Given the description of an element on the screen output the (x, y) to click on. 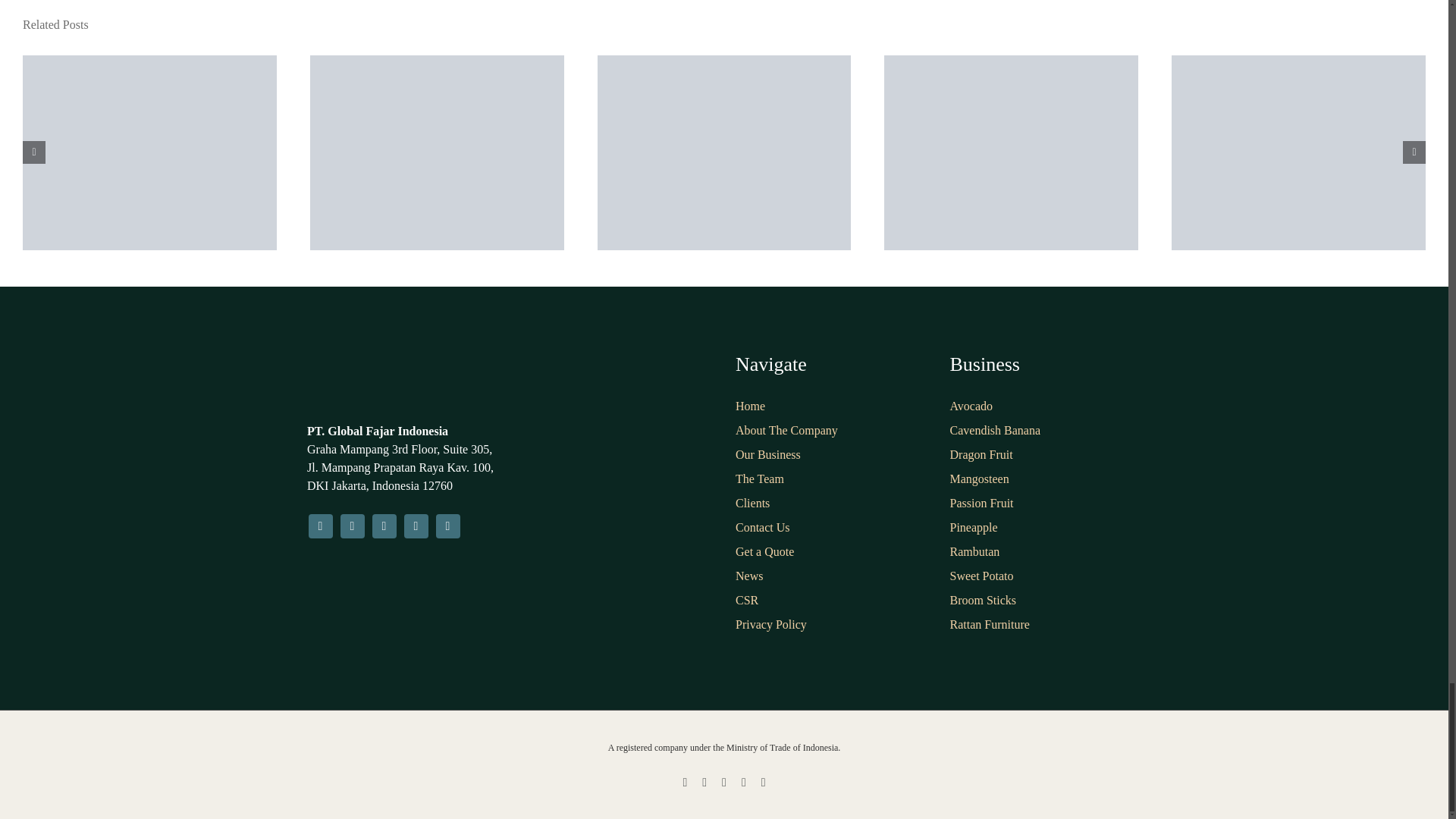
Facebook (319, 526)
Instagram (351, 526)
logo-globalfajar-80 (375, 379)
